Given the description of an element on the screen output the (x, y) to click on. 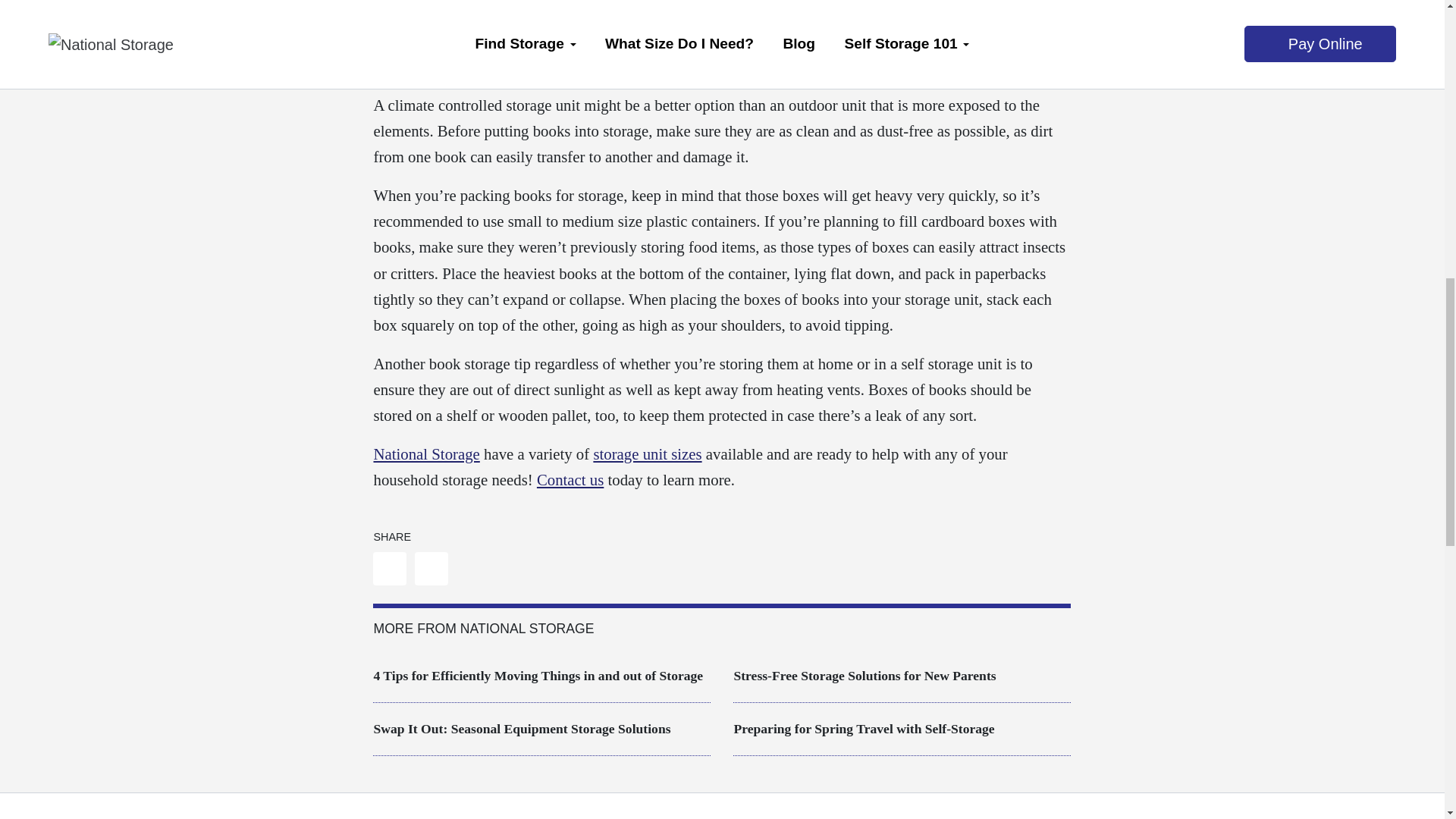
storage unit sizes (646, 453)
Preparing for Spring Travel with Self-Storage (863, 728)
Twitter (431, 568)
Stress-Free Storage Solutions for New Parents (864, 674)
National Storage (425, 453)
4 Tips for Efficiently Moving Things in and out of Storage (537, 674)
Contact us (570, 479)
Facebook (389, 568)
Swap It Out: Seasonal Equipment Storage Solutions (520, 728)
